Given the description of an element on the screen output the (x, y) to click on. 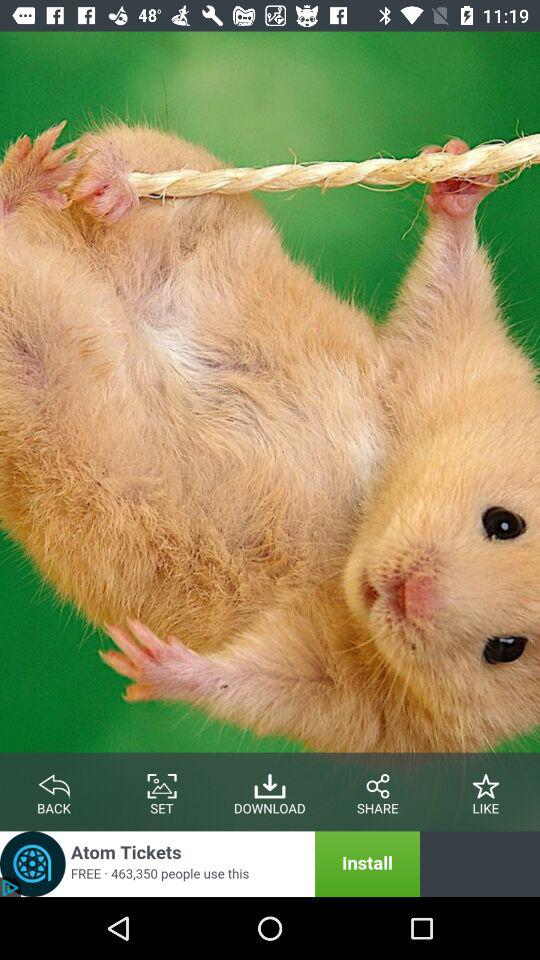
advertisement banner (210, 864)
